Given the description of an element on the screen output the (x, y) to click on. 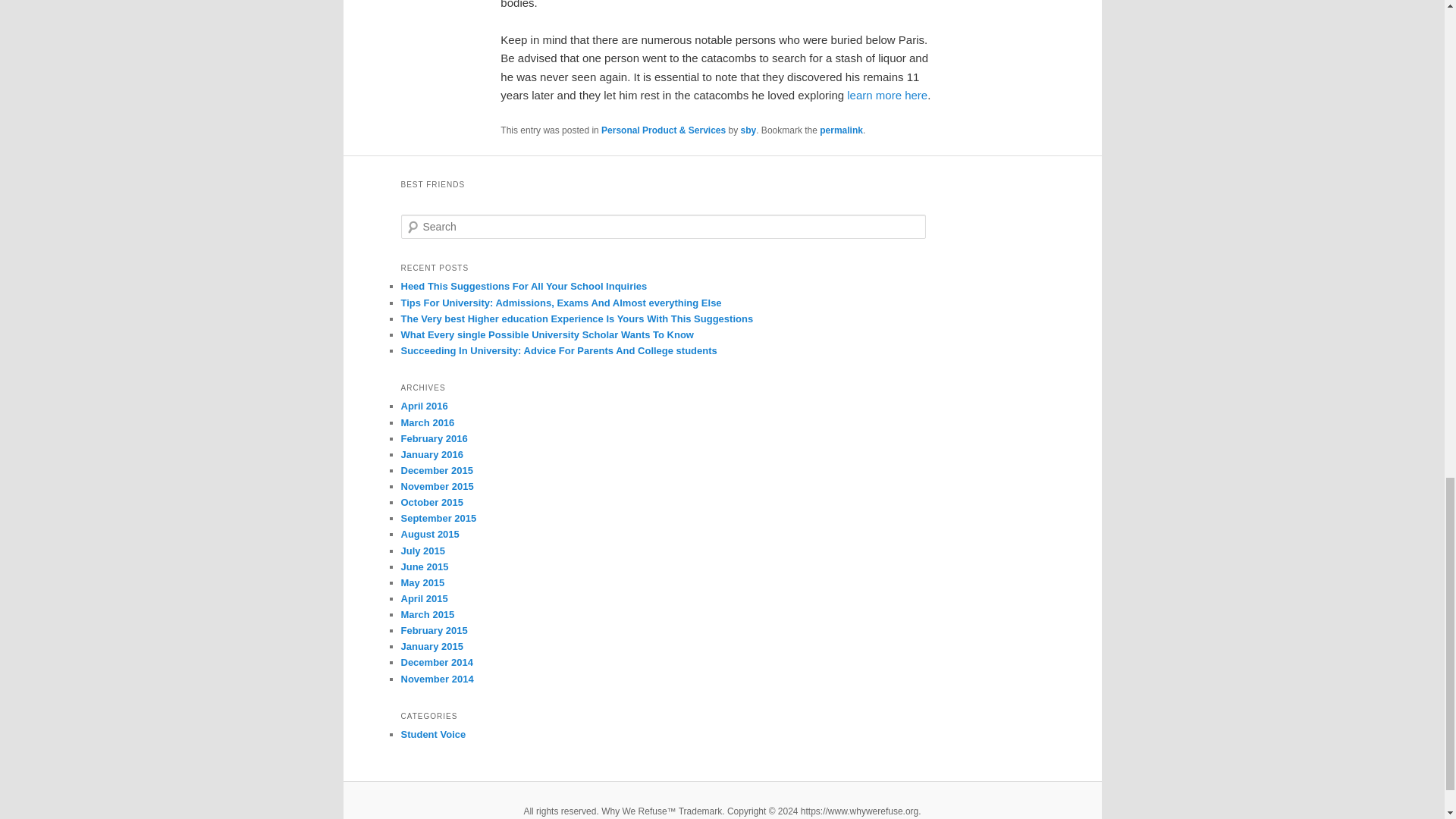
February 2016 (433, 438)
May 2015 (422, 582)
July 2015 (422, 550)
September 2015 (438, 518)
April 2016 (423, 405)
March 2015 (427, 614)
February 2015 (433, 630)
Permalink to The Path To Finding Better (841, 130)
